Given the description of an element on the screen output the (x, y) to click on. 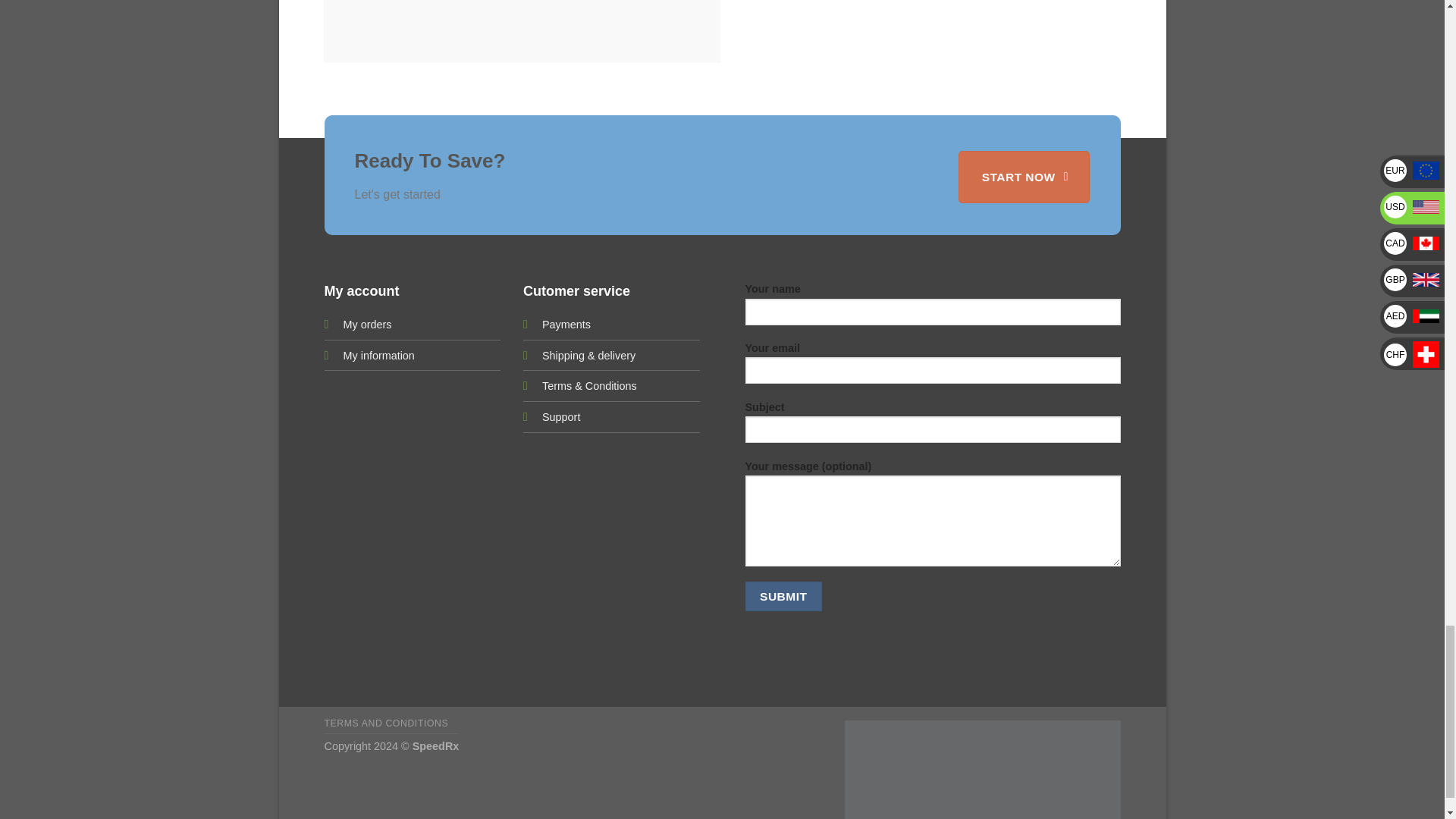
Submit (782, 595)
